Given the description of an element on the screen output the (x, y) to click on. 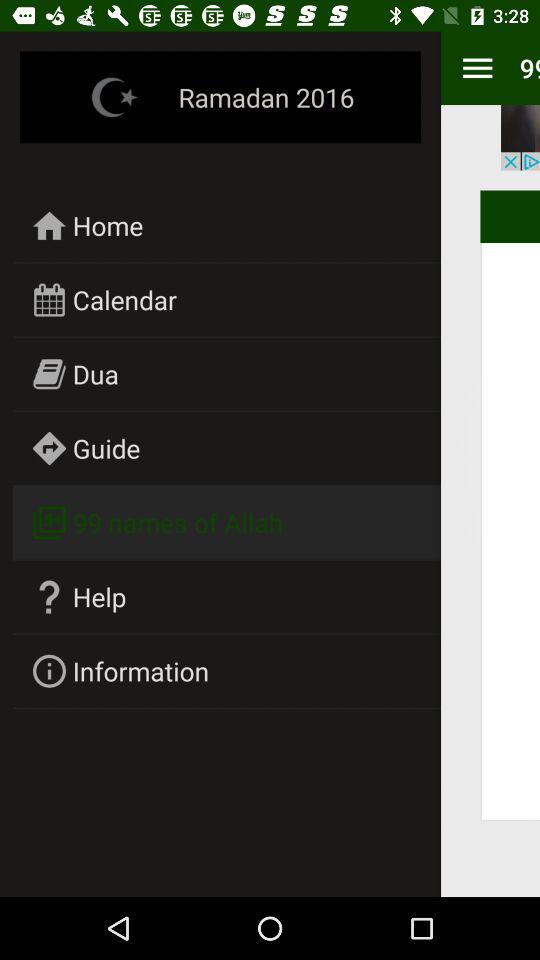
launch the item above the dua (124, 299)
